Given the description of an element on the screen output the (x, y) to click on. 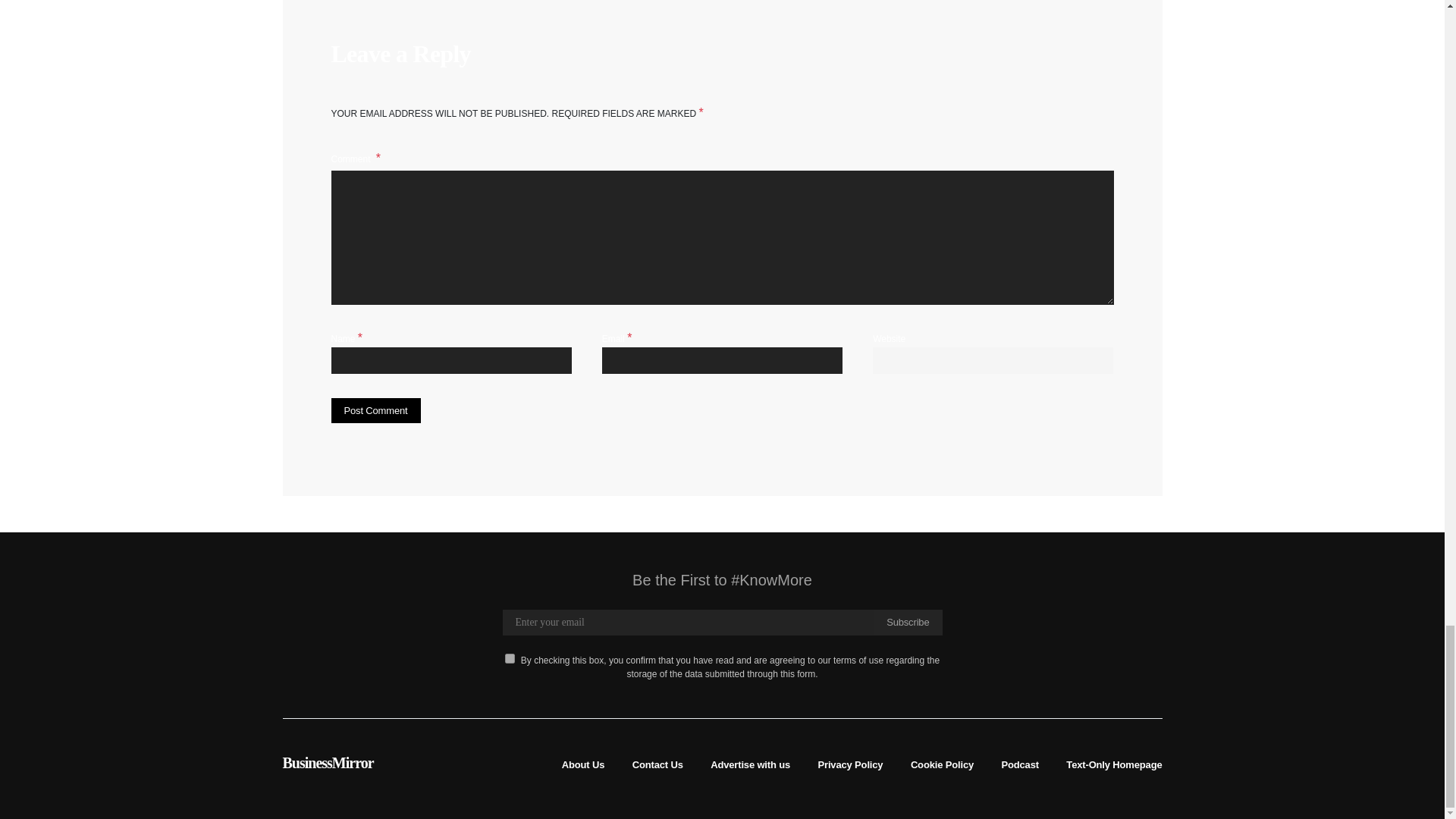
on (510, 658)
Post Comment (375, 411)
